Given the description of an element on the screen output the (x, y) to click on. 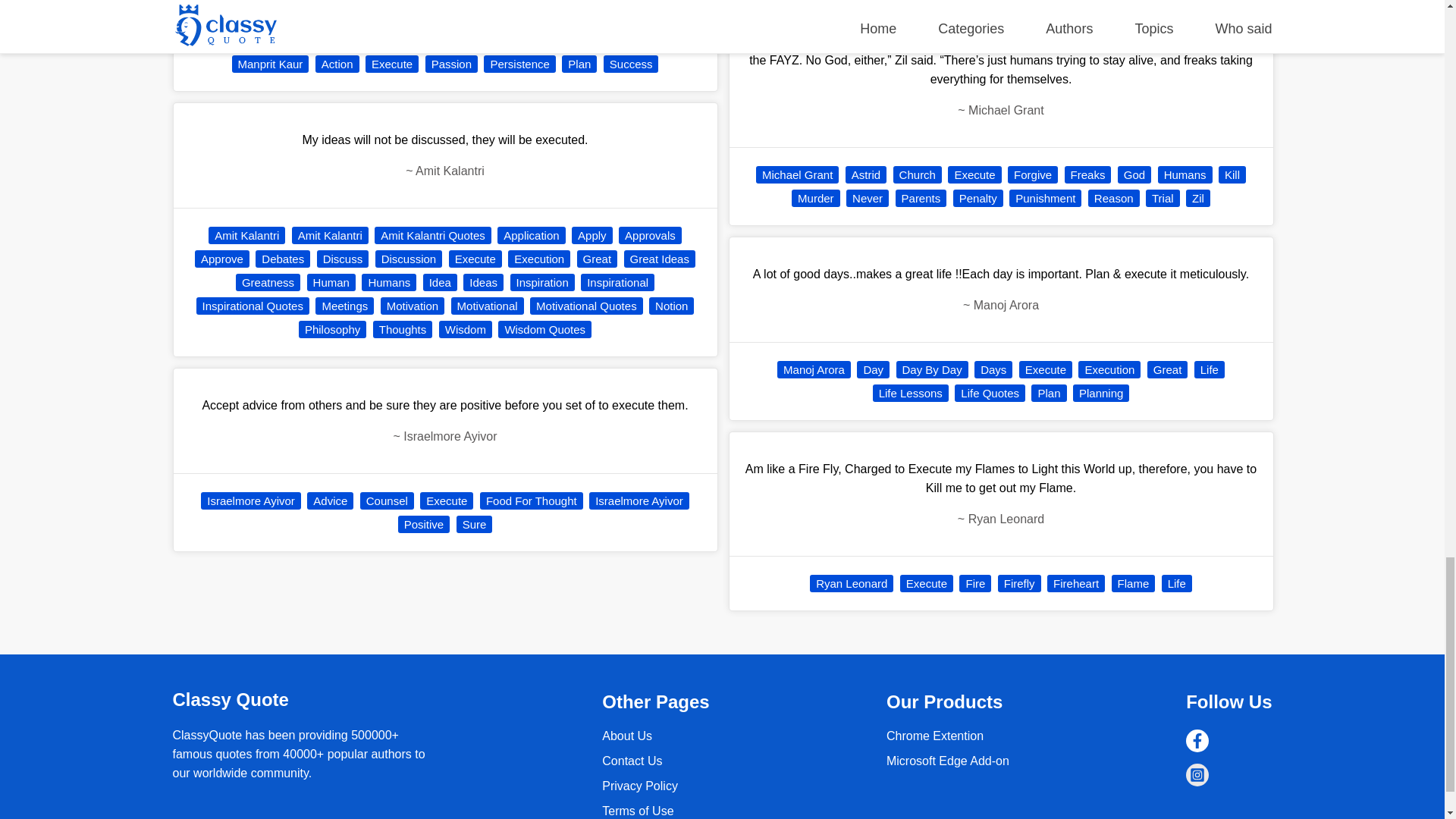
Chrome Extention (947, 760)
Instagram coming soon (1197, 774)
Facebook (1197, 740)
Chrome Extention (935, 735)
